Given the description of an element on the screen output the (x, y) to click on. 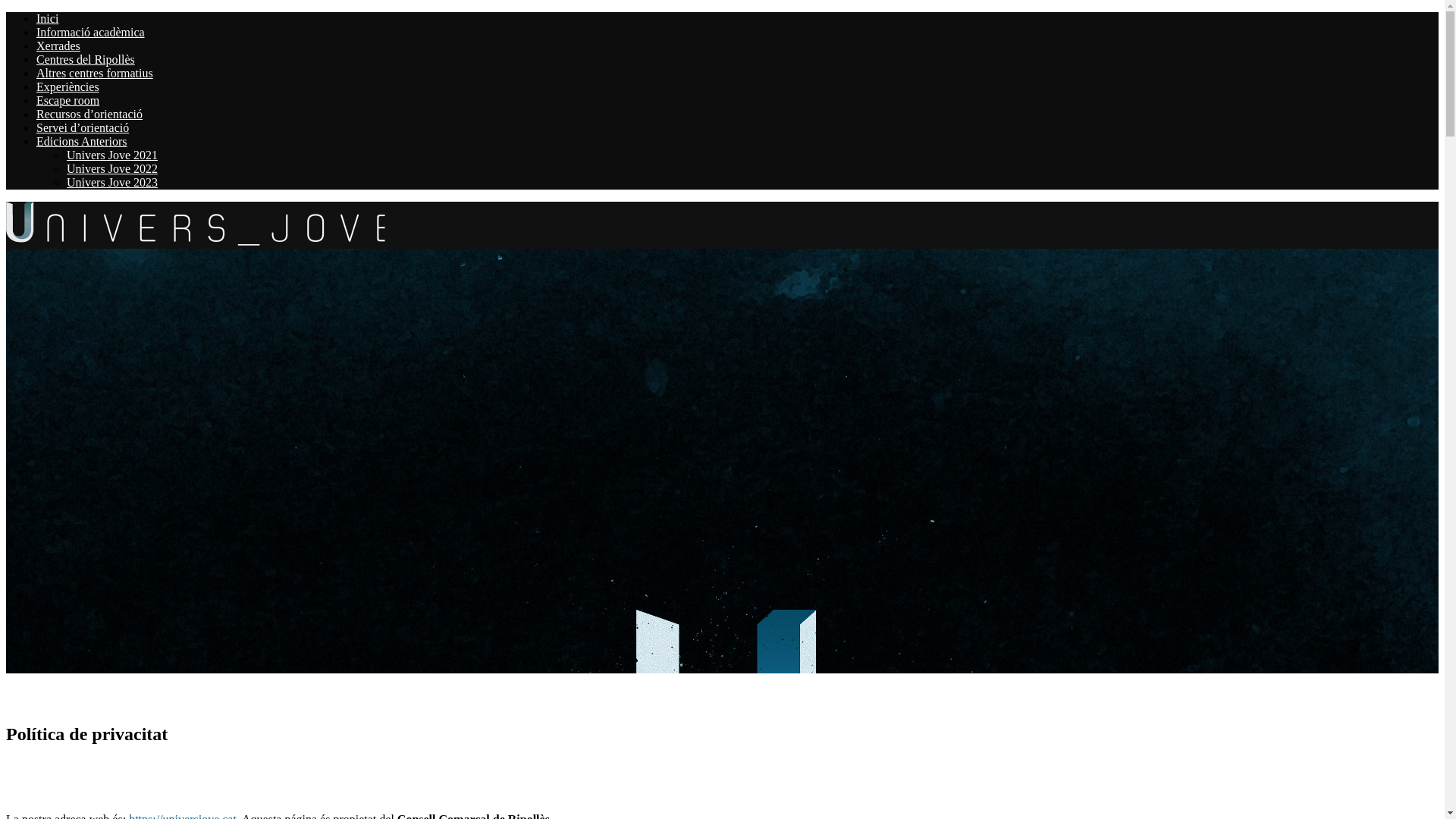
Escape room Element type: text (67, 100)
Inici Element type: text (47, 18)
Altres centres formatius Element type: text (94, 72)
Univers Jove 2023 Element type: text (111, 181)
Univers Jove 2022 Element type: text (111, 168)
Xerrades Element type: text (58, 45)
Edicions Anteriors Element type: text (81, 140)
Univers Jove 2021 Element type: text (111, 154)
